Given the description of an element on the screen output the (x, y) to click on. 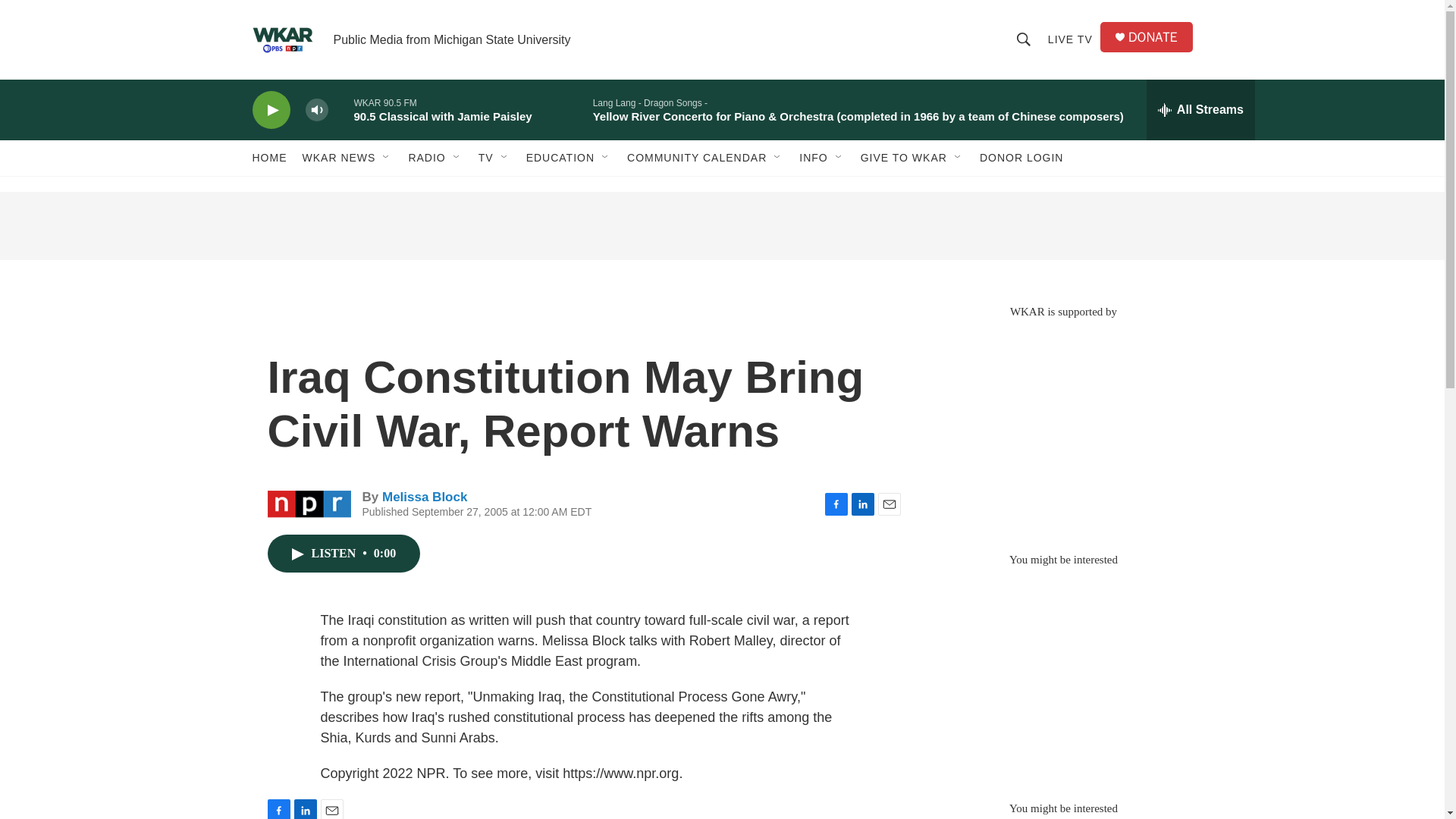
3rd party ad content (721, 225)
3rd party ad content (1062, 677)
3rd party ad content (1062, 428)
